Given the description of an element on the screen output the (x, y) to click on. 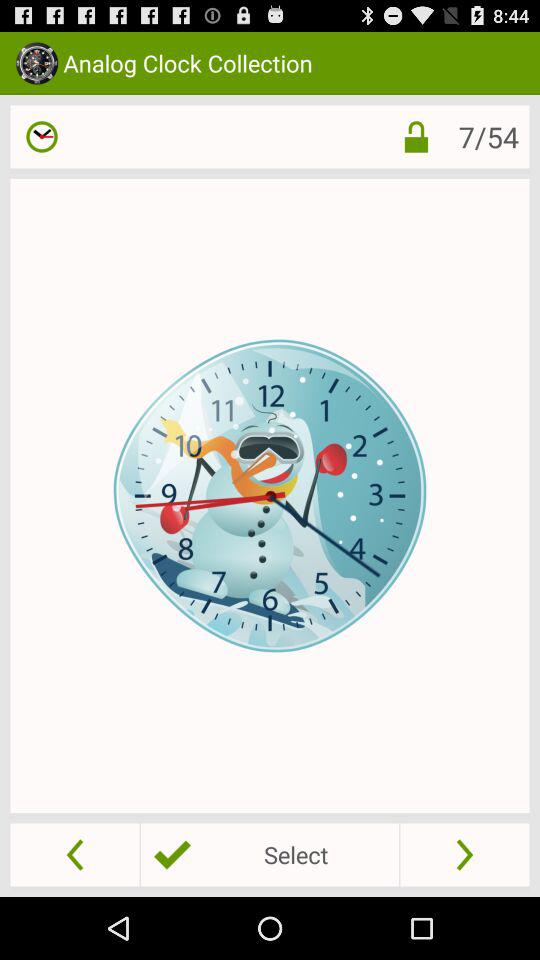
press select (269, 854)
